Given the description of an element on the screen output the (x, y) to click on. 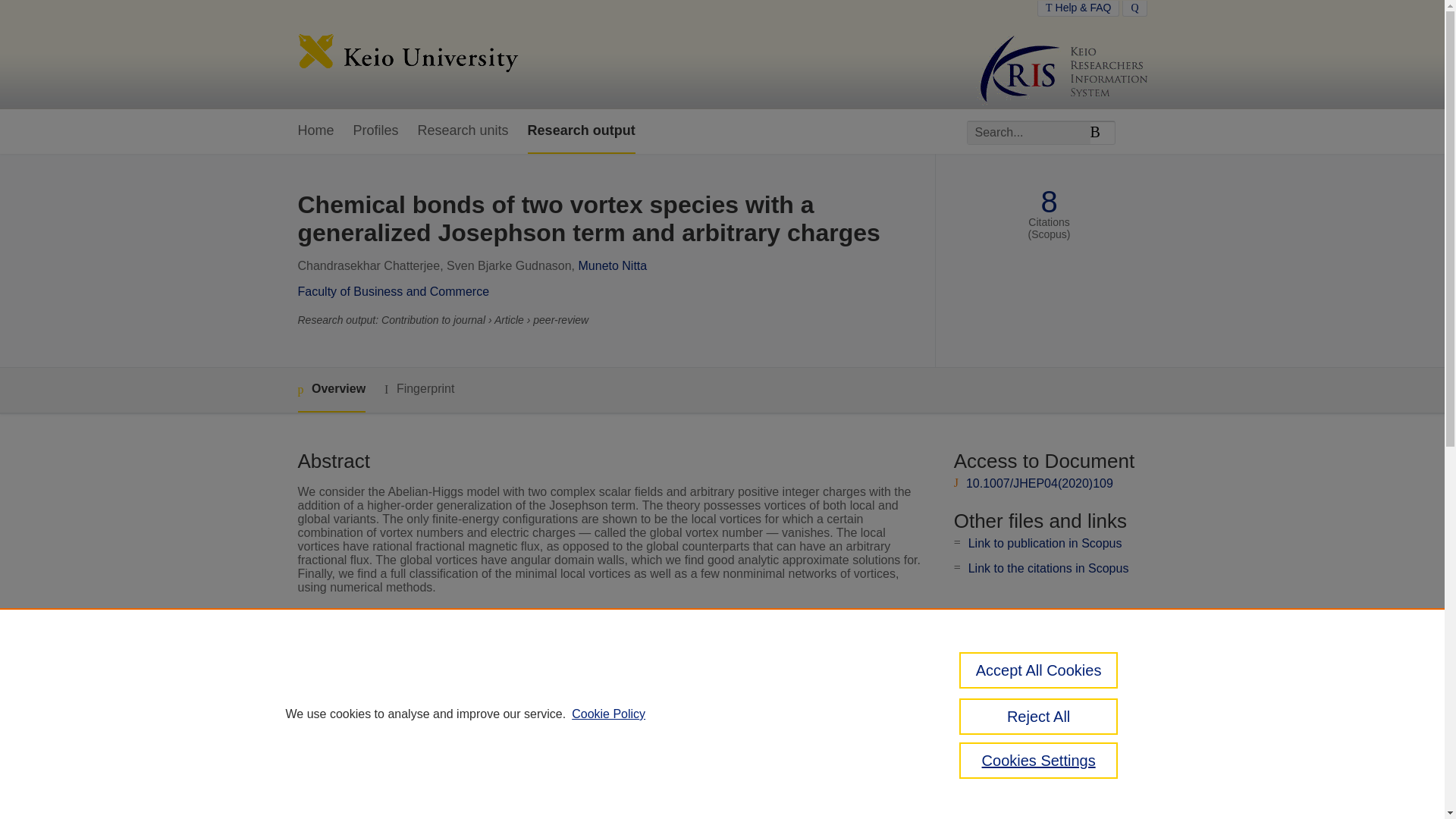
Research output (580, 130)
Link to publication in Scopus (1045, 543)
Fingerprint (419, 389)
Keio University Home (407, 54)
Journal of High Energy Physics (592, 660)
Overview (331, 389)
Faculty of Business and Commerce (393, 291)
Muneto Nitta (612, 265)
Profiles (375, 130)
Link to the citations in Scopus (1048, 567)
Research units (462, 130)
